Given the description of an element on the screen output the (x, y) to click on. 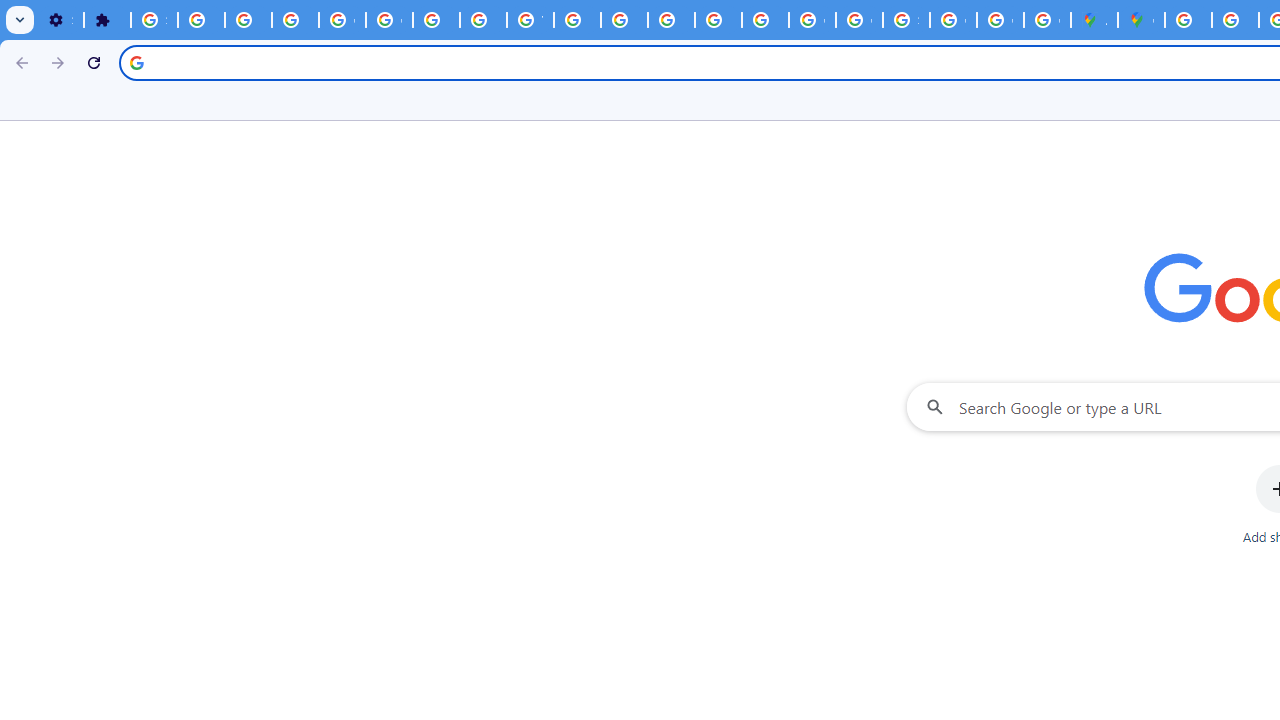
Privacy Help Center - Policies Help (623, 20)
Sign in - Google Accounts (153, 20)
Learn how to find your photos - Google Photos Help (248, 20)
YouTube (530, 20)
Google Account Help (389, 20)
Extensions (107, 20)
Google Maps (1140, 20)
https://scholar.google.com/ (577, 20)
